Given the description of an element on the screen output the (x, y) to click on. 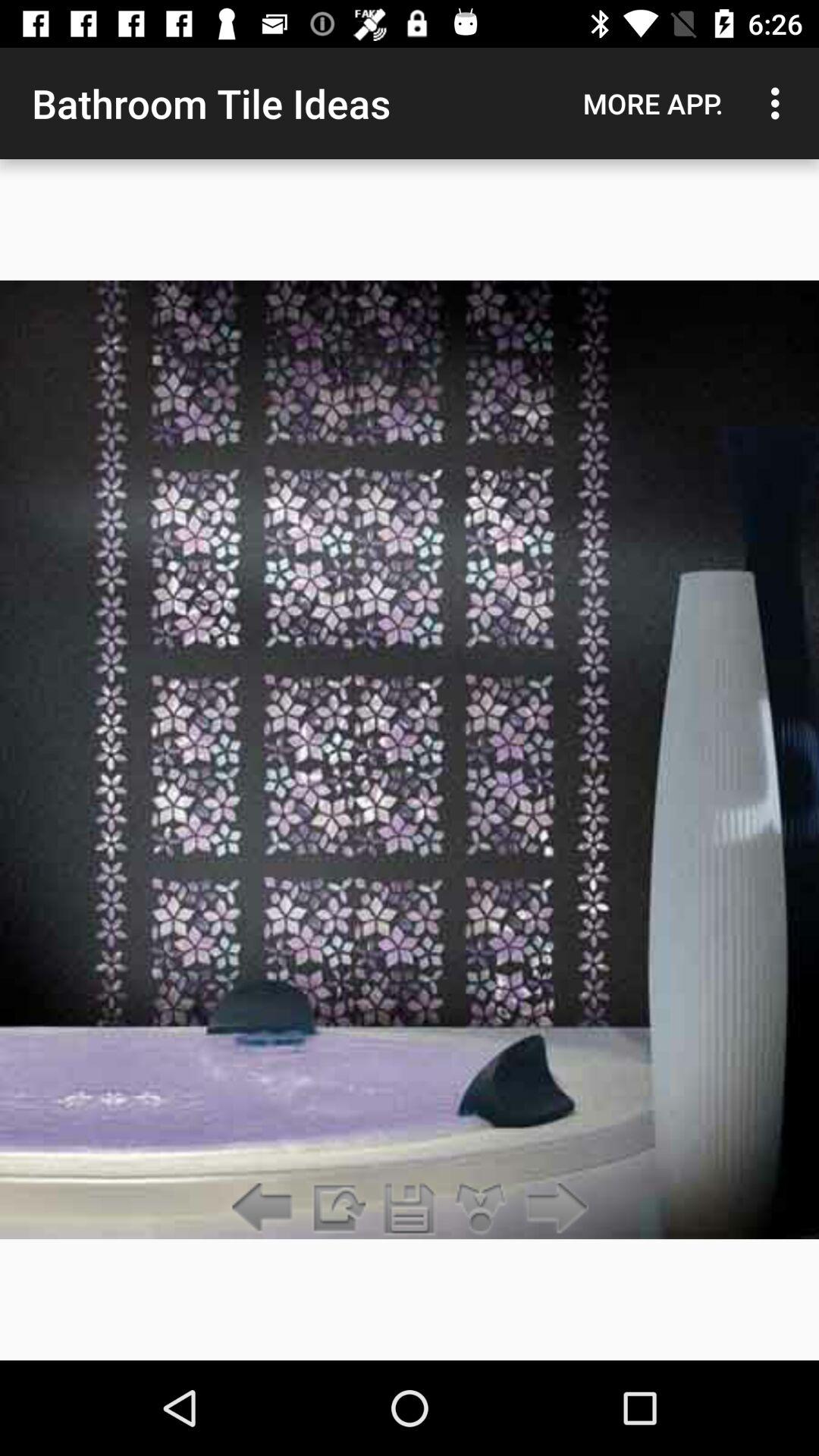
tap the icon to the right of the more app. item (779, 103)
